Given the description of an element on the screen output the (x, y) to click on. 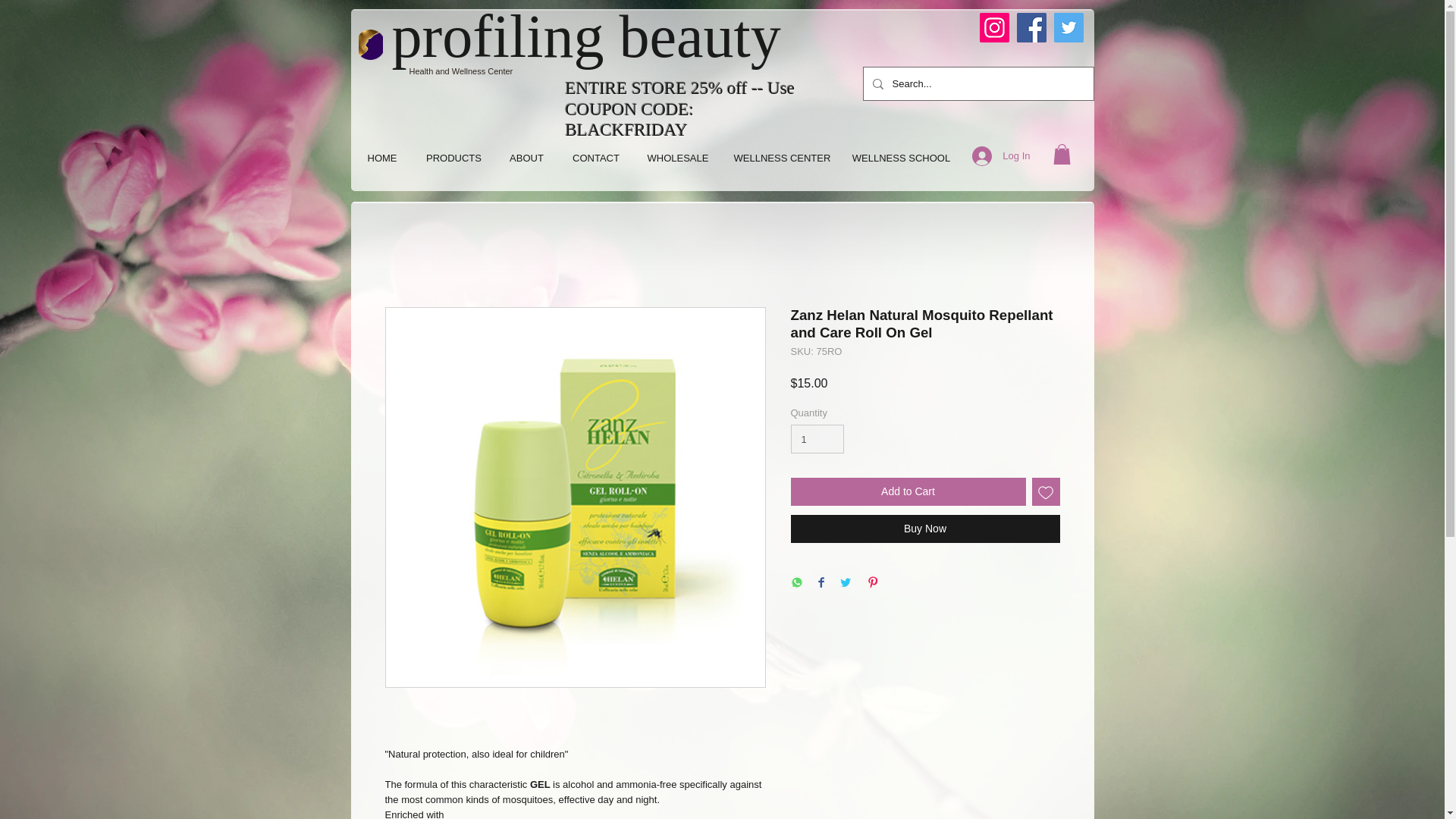
Add to Cart (907, 491)
profiling beauty (585, 36)
WELLNESS CENTER (781, 157)
WHOLESALE (677, 157)
Log In (1000, 155)
ABOUT (526, 157)
HOME (382, 157)
1 (817, 439)
Buy Now (924, 528)
Health and Wellness Center (461, 71)
CONTACT (595, 157)
PRODUCTS (453, 157)
WELLNESS SCHOOL (900, 157)
